Given the description of an element on the screen output the (x, y) to click on. 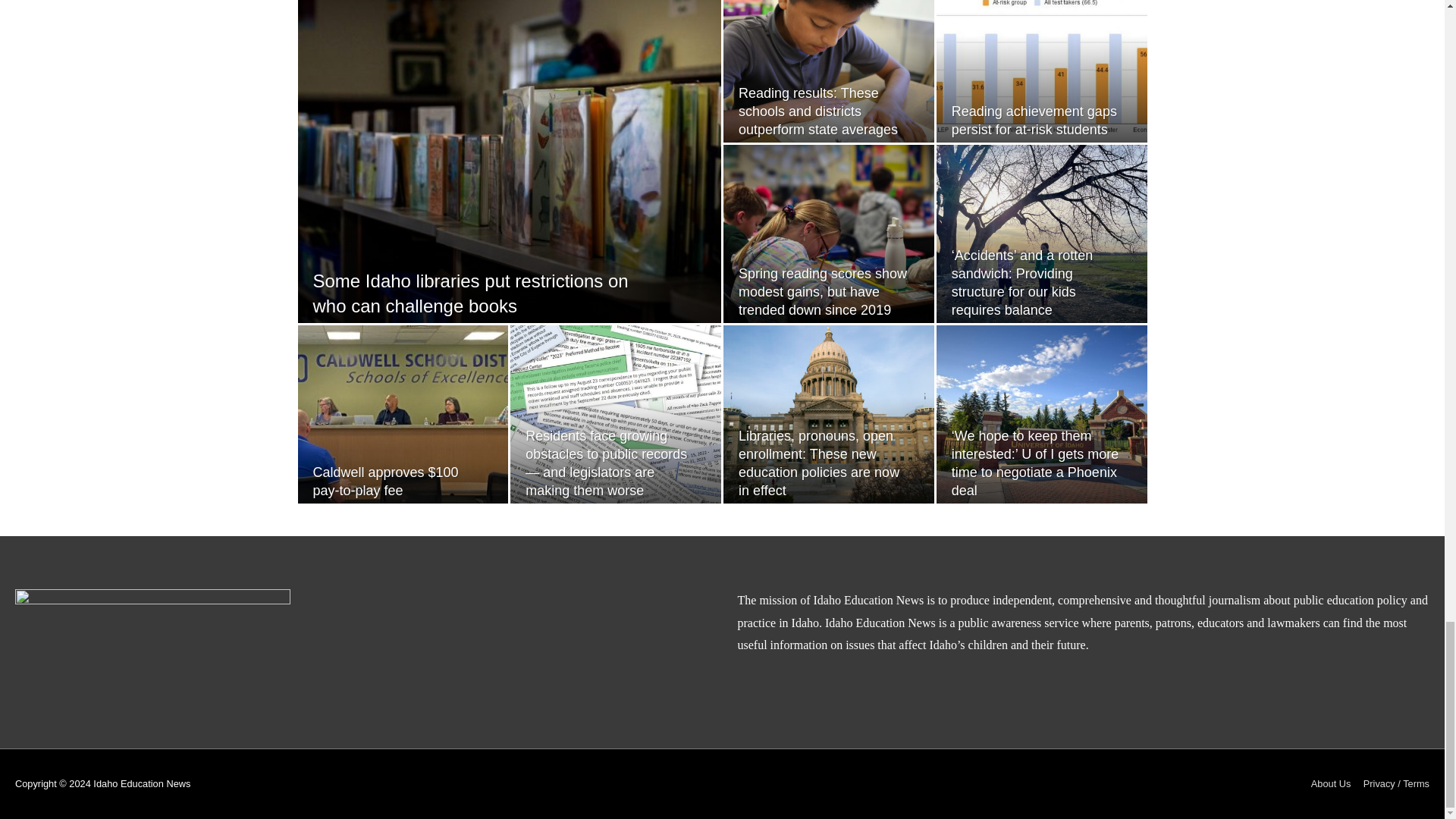
Reading achievement gaps persist for at-risk students (1034, 120)
